Given the description of an element on the screen output the (x, y) to click on. 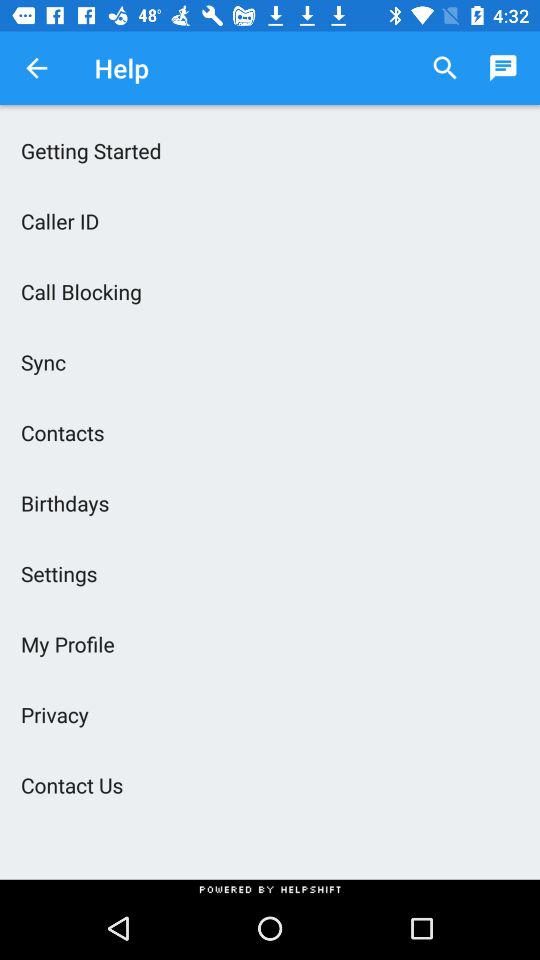
turn off the icon below the caller id (270, 291)
